Given the description of an element on the screen output the (x, y) to click on. 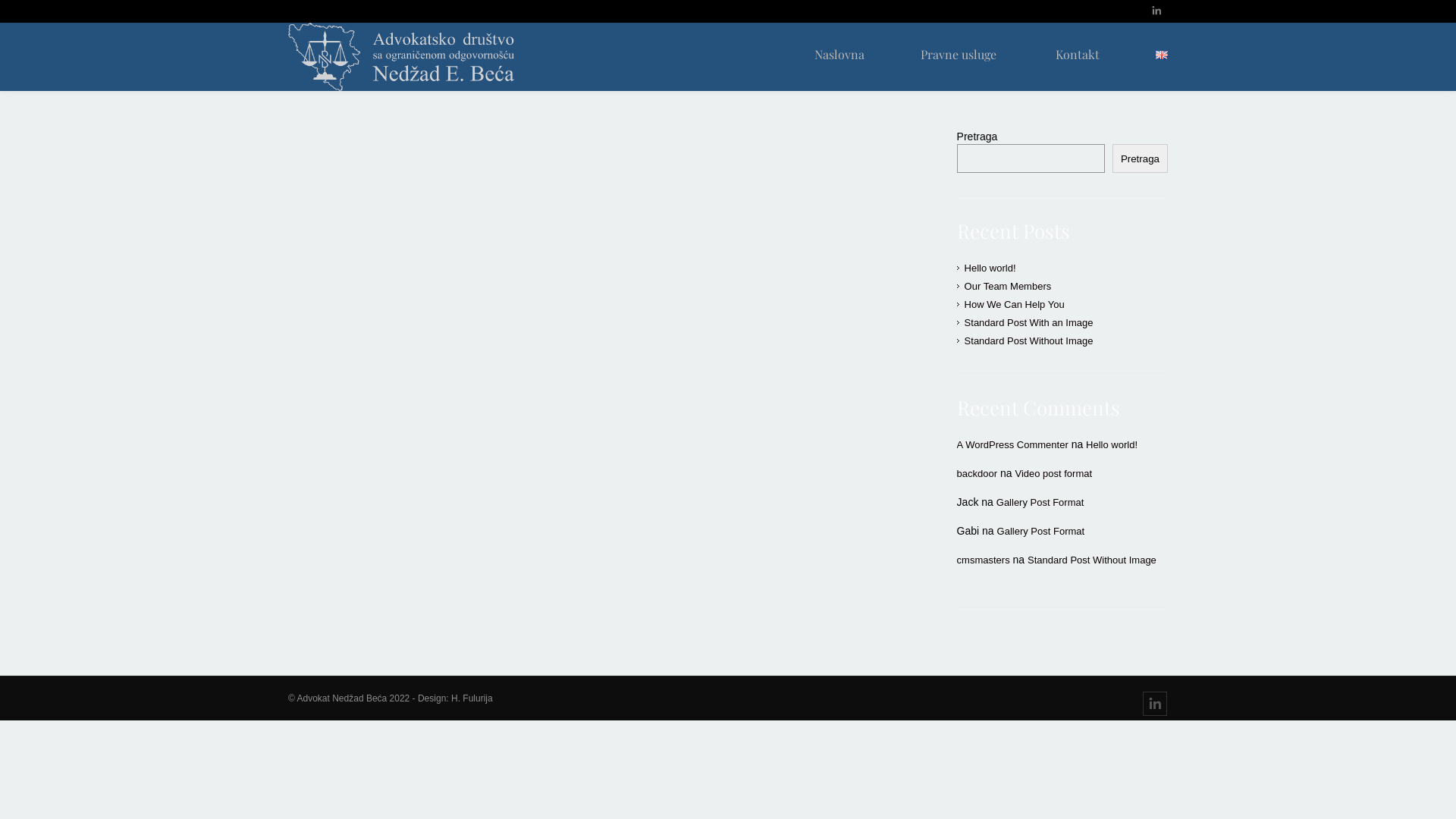
Hello world! Element type: text (990, 267)
Our Team Members Element type: text (1007, 285)
Standard Post With an Image Element type: text (1028, 322)
Naslovna Element type: text (839, 54)
Video post format Element type: text (1053, 473)
Gallery Post Format Element type: text (1041, 530)
Hello world! Element type: text (1111, 444)
backdoor Element type: text (977, 473)
A WordPress Commenter Element type: text (1012, 444)
Kontakt Element type: text (1077, 54)
Standard Post Without Image Element type: text (1028, 340)
cmsmasters Element type: text (983, 559)
https://ba.linkedin.com/in/be%C4%87a-ned%C5%BEad-aab752127 Element type: hover (1155, 12)
Gallery Post Format Element type: text (1040, 502)
https://ba.linkedin.com/in/be%C4%87a-ned%C5%BEad-aab752127 Element type: hover (1154, 703)
Standard Post Without Image Element type: text (1091, 559)
Pravne usluge Element type: text (958, 54)
How We Can Help You Element type: text (1014, 304)
Pretraga Element type: text (1139, 158)
